Given the description of an element on the screen output the (x, y) to click on. 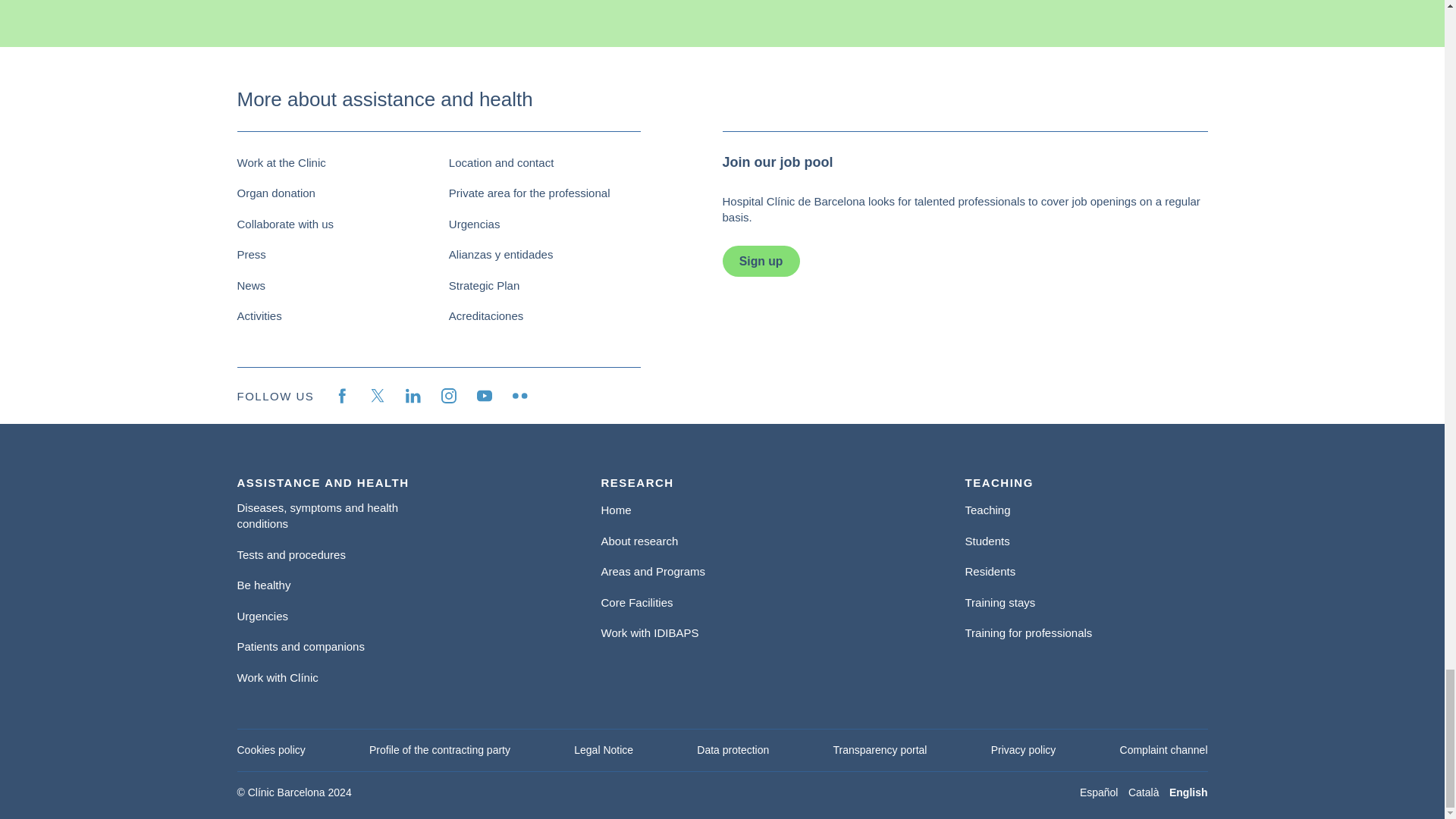
Follow us on twitter (377, 395)
Follow us on linkedin (413, 395)
Follow us on youtube (484, 395)
Follow us on instagram (449, 395)
Follow us on facebook (341, 395)
